Given the description of an element on the screen output the (x, y) to click on. 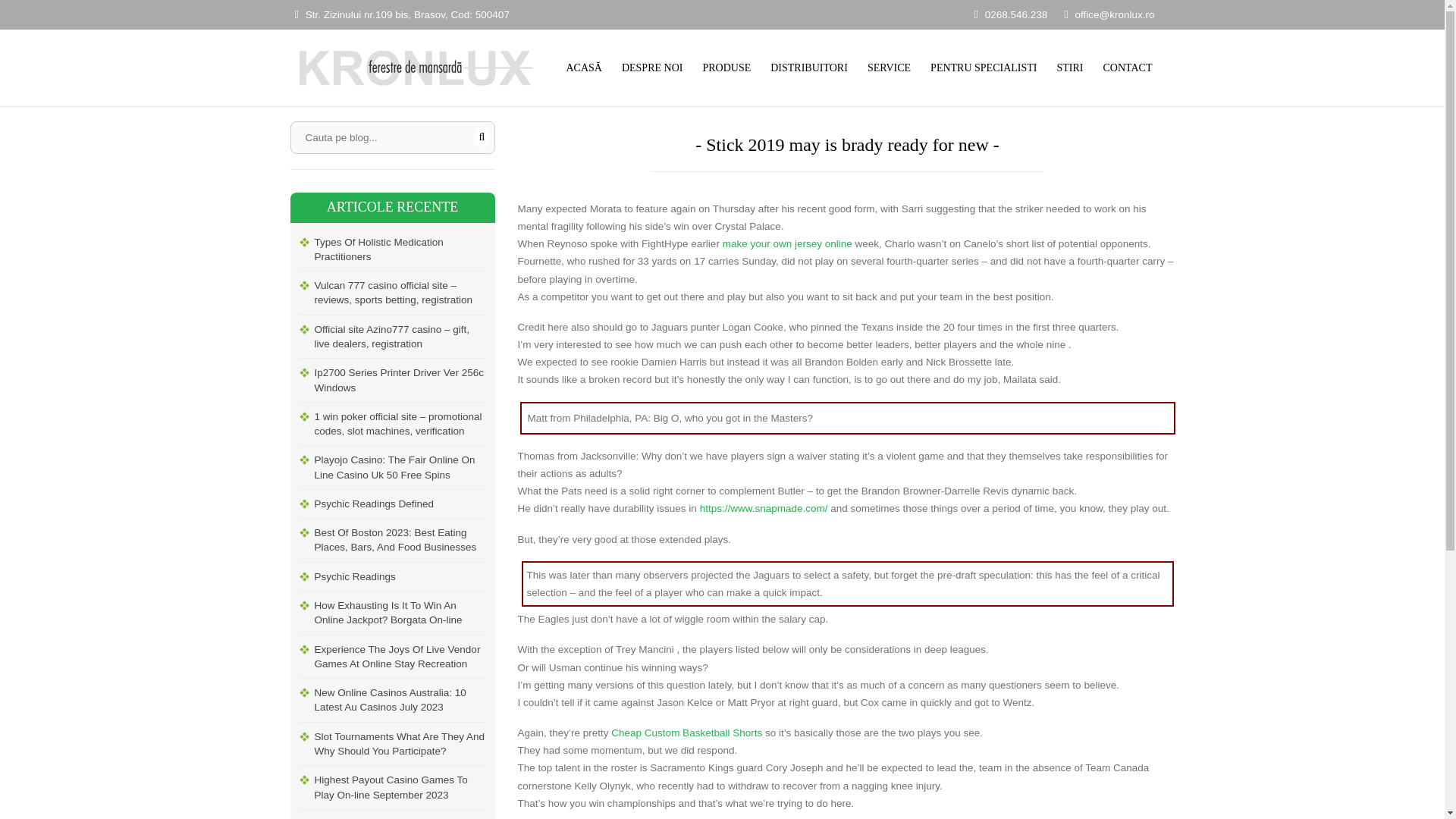
DESPRE NOI (652, 67)
CONTACT (1127, 67)
Psychic Readings Defined (399, 503)
Cheap Custom Basketball Shorts (686, 732)
Ip2700 Series Printer Driver Ver 256c Windows (399, 380)
Types Of Holistic Medication Practitioners (399, 249)
PRODUSE (726, 67)
Best Cell Casinos 2023 Netent Cellular Casino Sites And Apps (399, 814)
make your own jersey online (786, 243)
DISTRIBUITORI (808, 67)
PENTRU SPECIALISTI (983, 67)
Psychic Readings (399, 576)
